Given the description of an element on the screen output the (x, y) to click on. 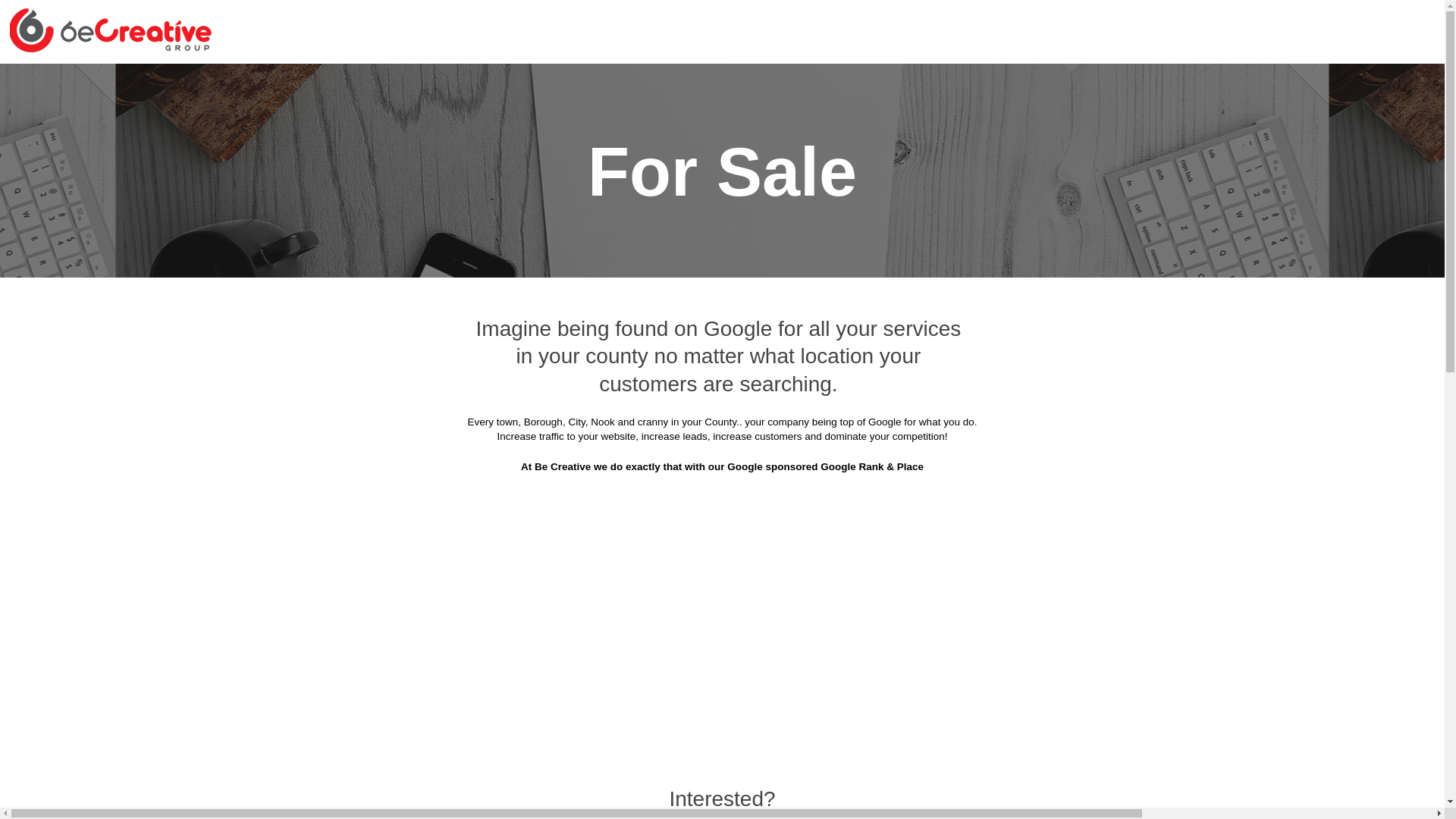
Aggregate Suppliers Hayle Cornwall (631, 346)
Aggregate Suppliers Dawlish Devon (663, 271)
Aggregate Suppliers Callington Cornwall (834, 196)
Aggregate Suppliers Bude Cornwall (1086, 158)
Aggregate Suppliers Dartmouth Devon (443, 271)
Aggregate Suppliers Great Torrington Devon (1062, 309)
Aggregate Suppliers Cornwall (488, 83)
Aggregate Suppliers Holsworthy Devon (1076, 346)
Aggregate Suppliers Ashburton Devon (855, 83)
Aggregate Suppliers Cranbrook Devon (1078, 234)
Aggregate Suppliers Fowey Cornwall (824, 309)
Aggregate Suppliers Hatherleigh Devon (409, 346)
Aggregate Suppliers Bideford Devon (617, 121)
Aggregate Suppliers Bodmin Cornwall (837, 121)
Aggregate Suppliers Falmouth Cornwall (600, 309)
